Given the description of an element on the screen output the (x, y) to click on. 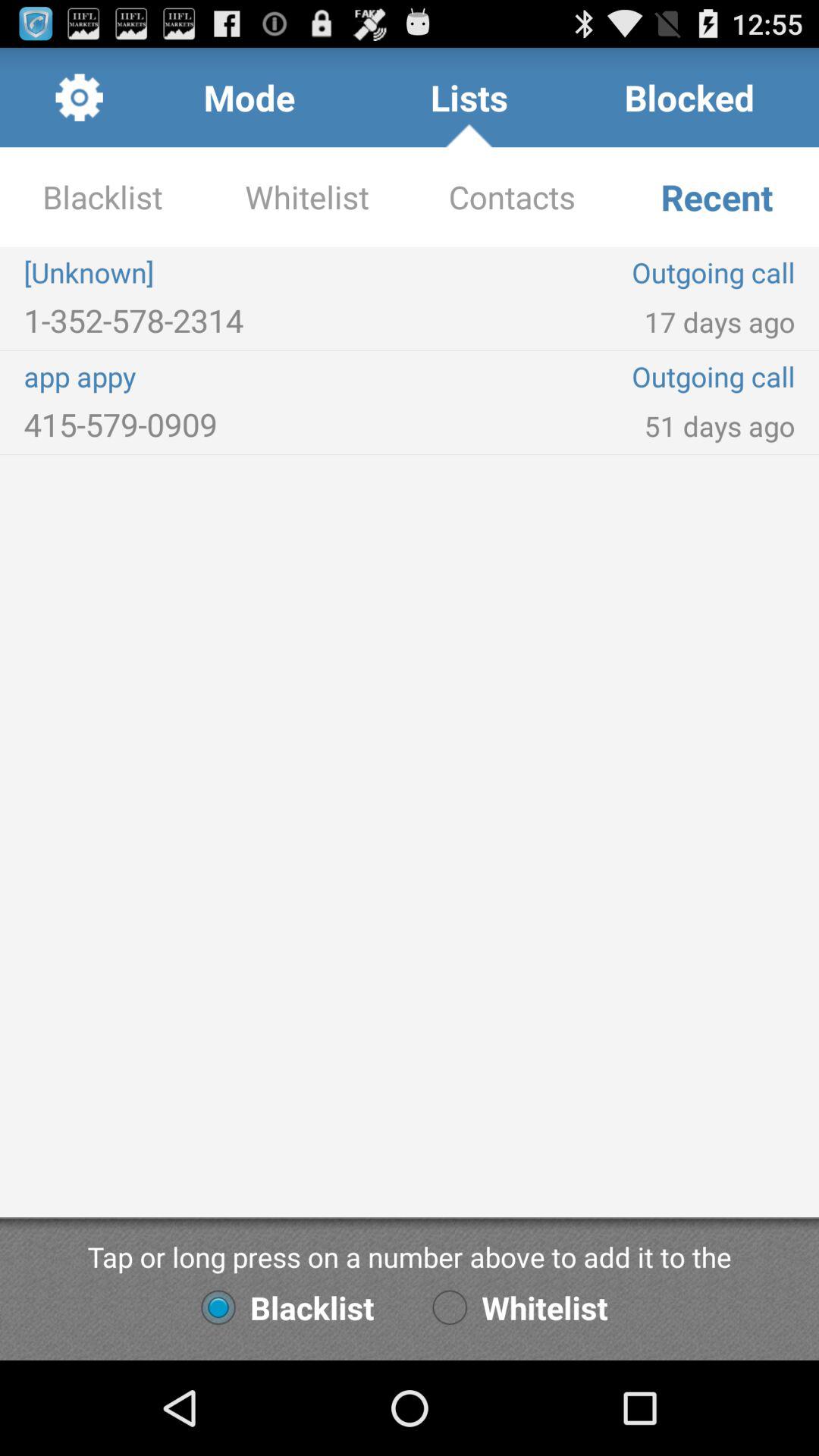
launch app next to the outgoing call icon (216, 376)
